Given the description of an element on the screen output the (x, y) to click on. 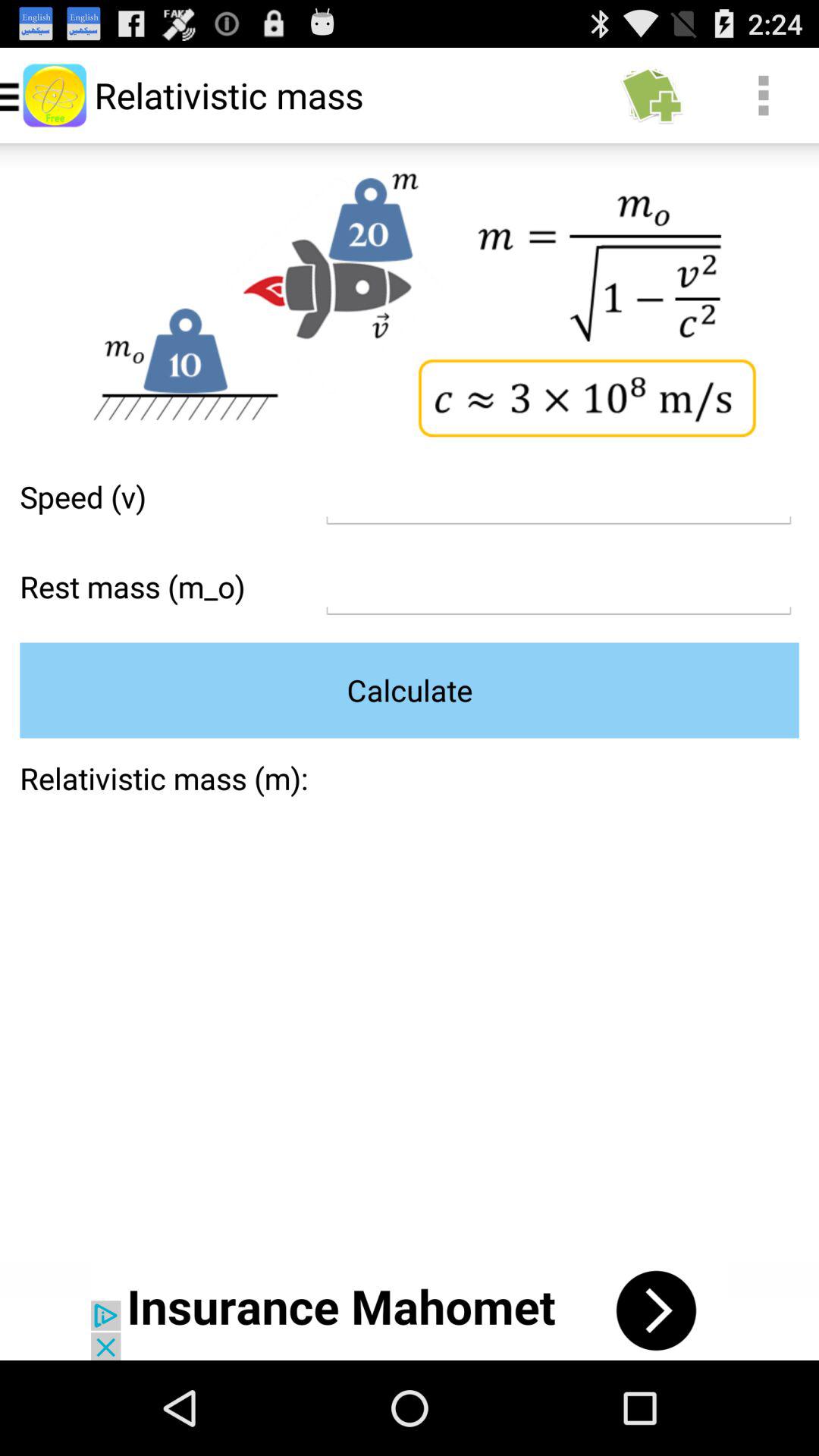
formula (558, 496)
